Given the description of an element on the screen output the (x, y) to click on. 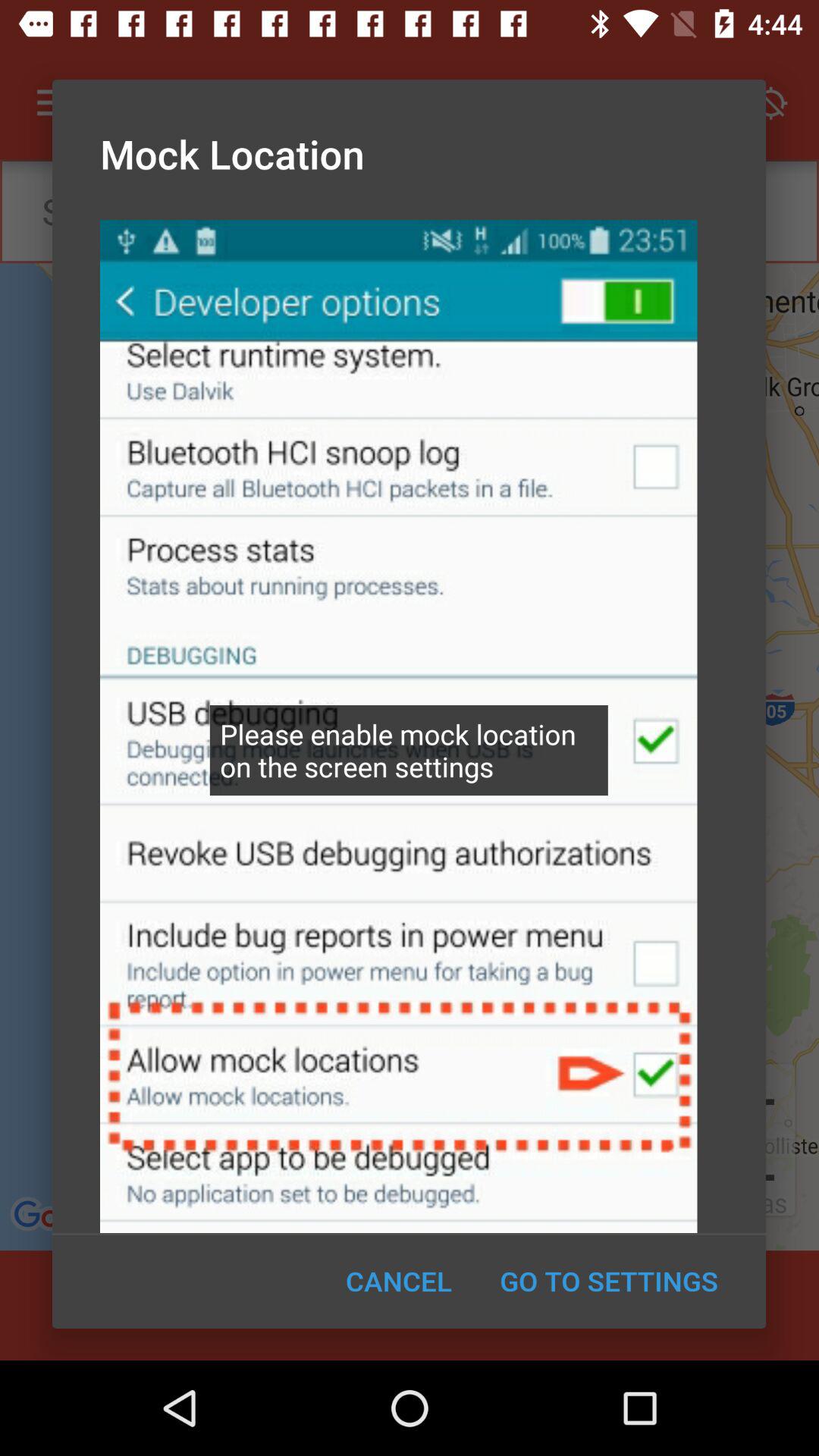
jump until the cancel icon (398, 1280)
